Given the description of an element on the screen output the (x, y) to click on. 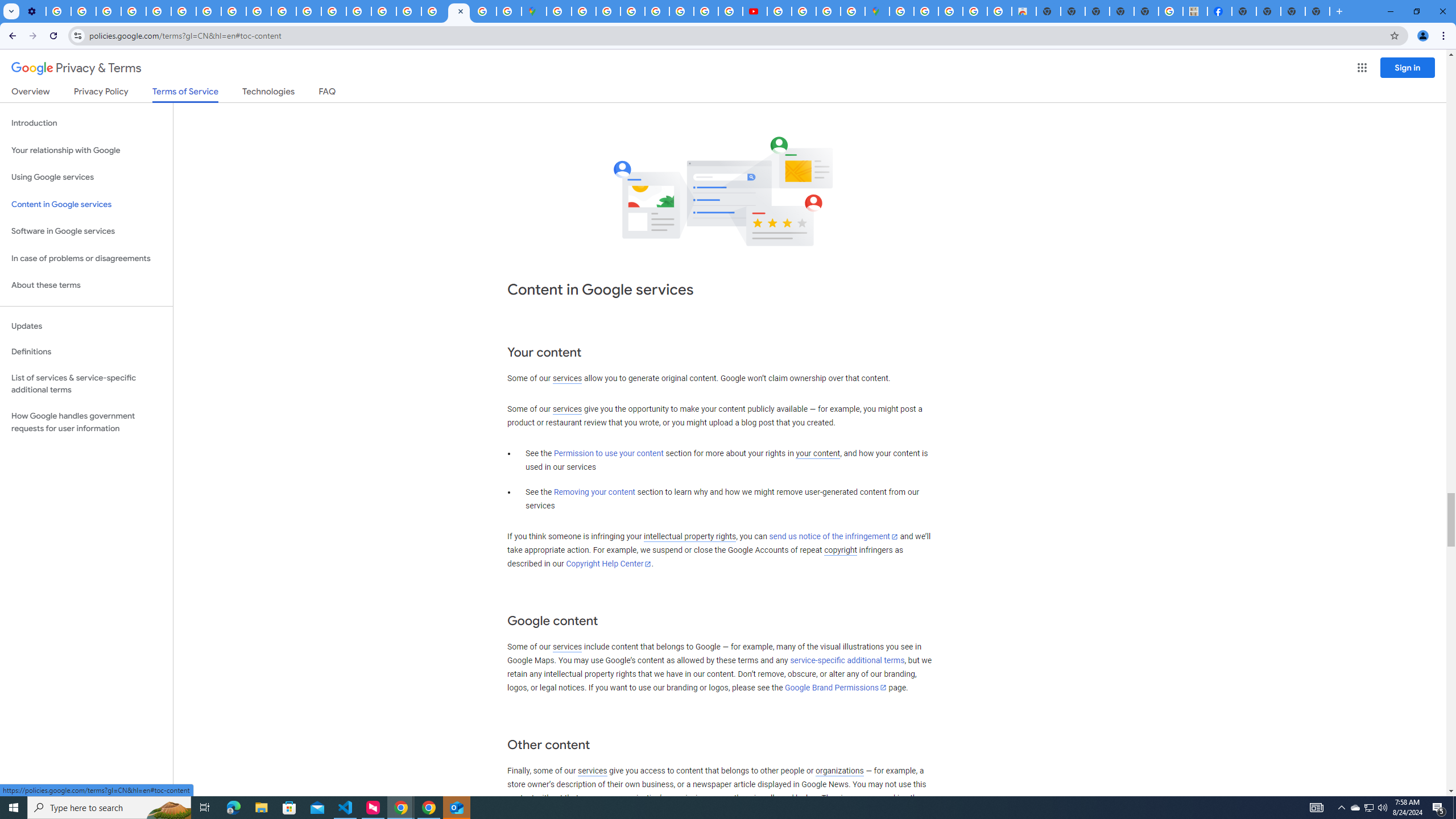
New Tab (1243, 11)
services (591, 770)
organizations (839, 770)
Google Brand Permissions (835, 687)
Terms and Conditions (656, 11)
Sign in - Google Accounts (583, 11)
Sign in - Google Accounts (433, 11)
